Given the description of an element on the screen output the (x, y) to click on. 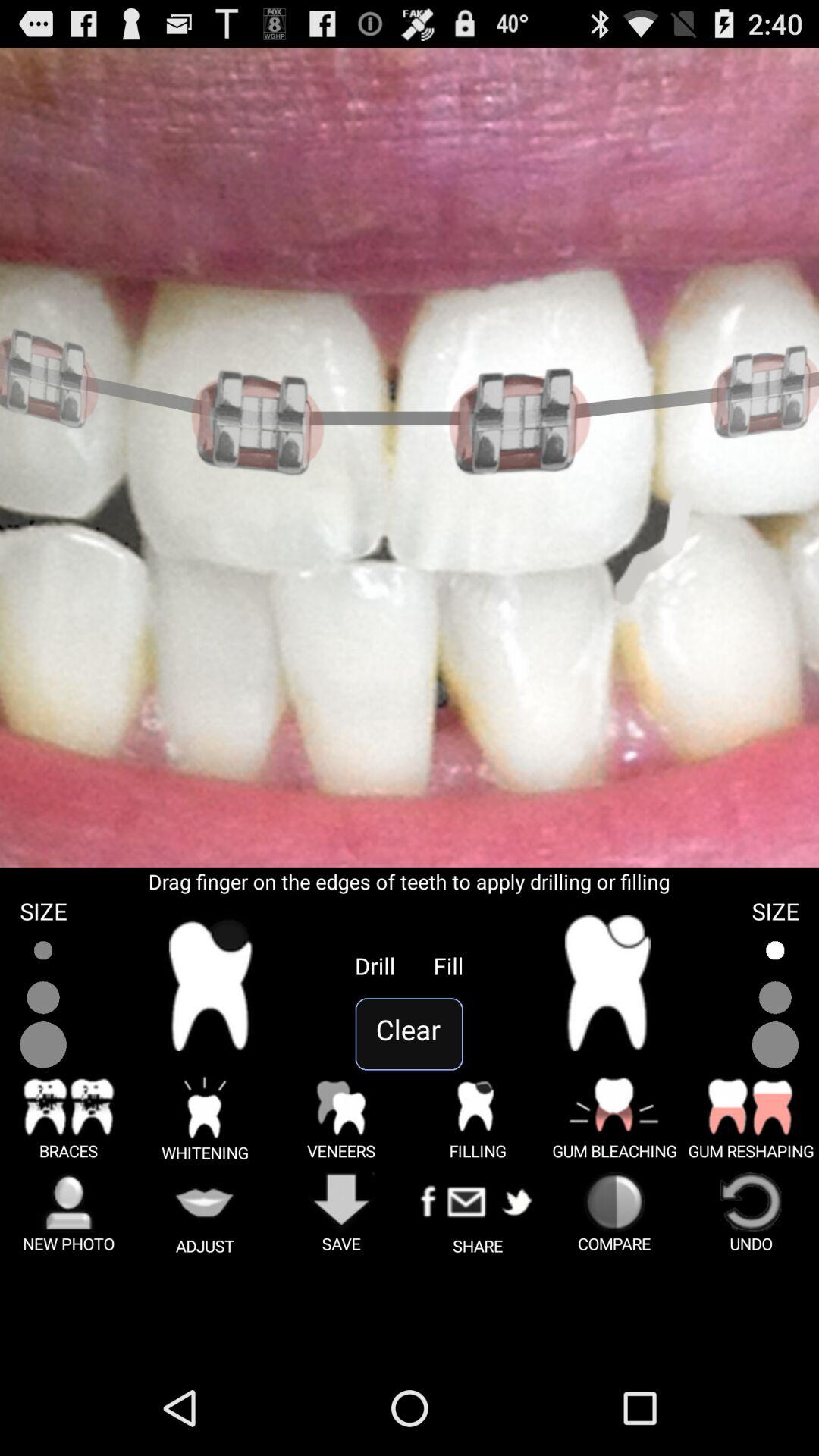
select the size of the tooth filling (775, 998)
